Given the description of an element on the screen output the (x, y) to click on. 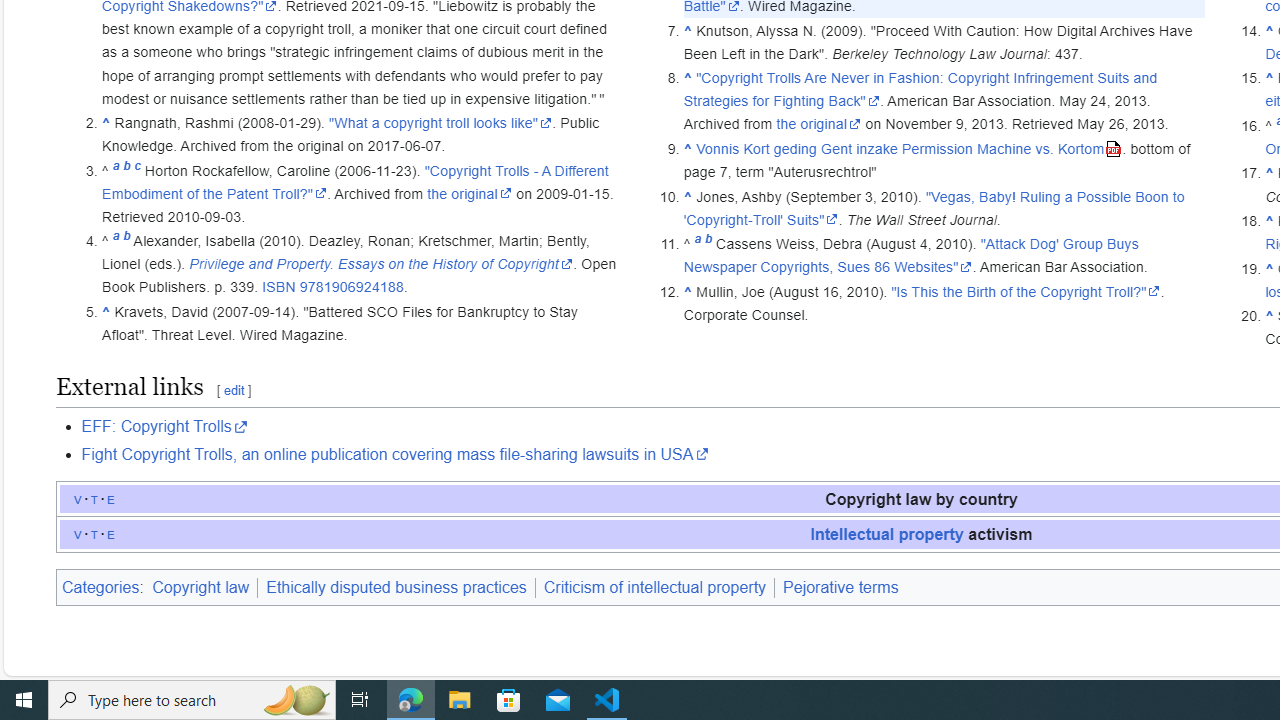
the original (818, 124)
e (111, 533)
v (77, 533)
Categories (100, 587)
Criticism of intellectual property (654, 587)
Intellectual property (886, 533)
